Given the description of an element on the screen output the (x, y) to click on. 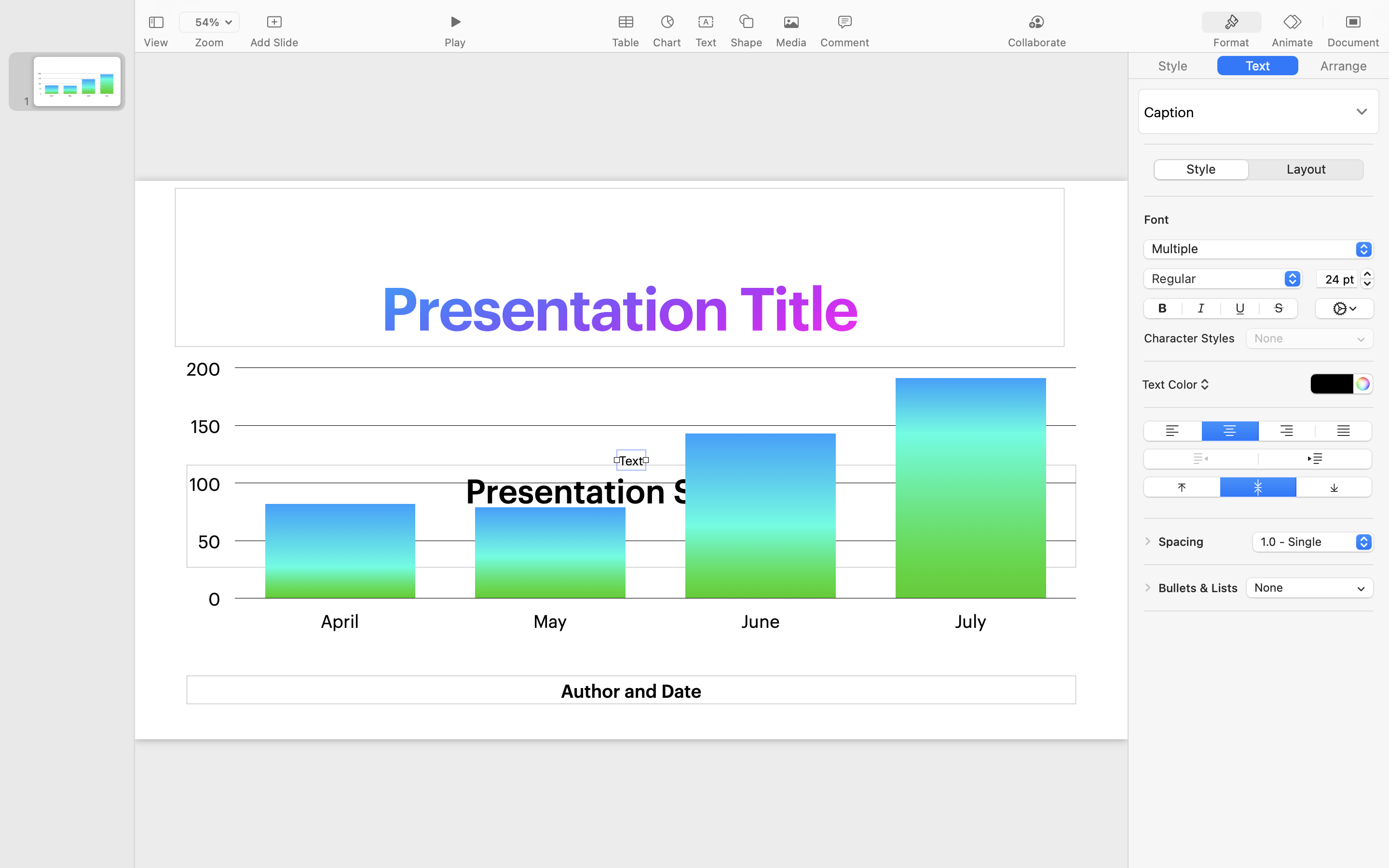
Animate Element type: AXStaticText (1291, 42)
<AXUIElement 0x1740fffa0> {pid=1697} Element type: AXGroup (1292, 22)
Format Element type: AXStaticText (1230, 42)
Regular Element type: AXPopUpButton (1223, 280)
